Given the description of an element on the screen output the (x, y) to click on. 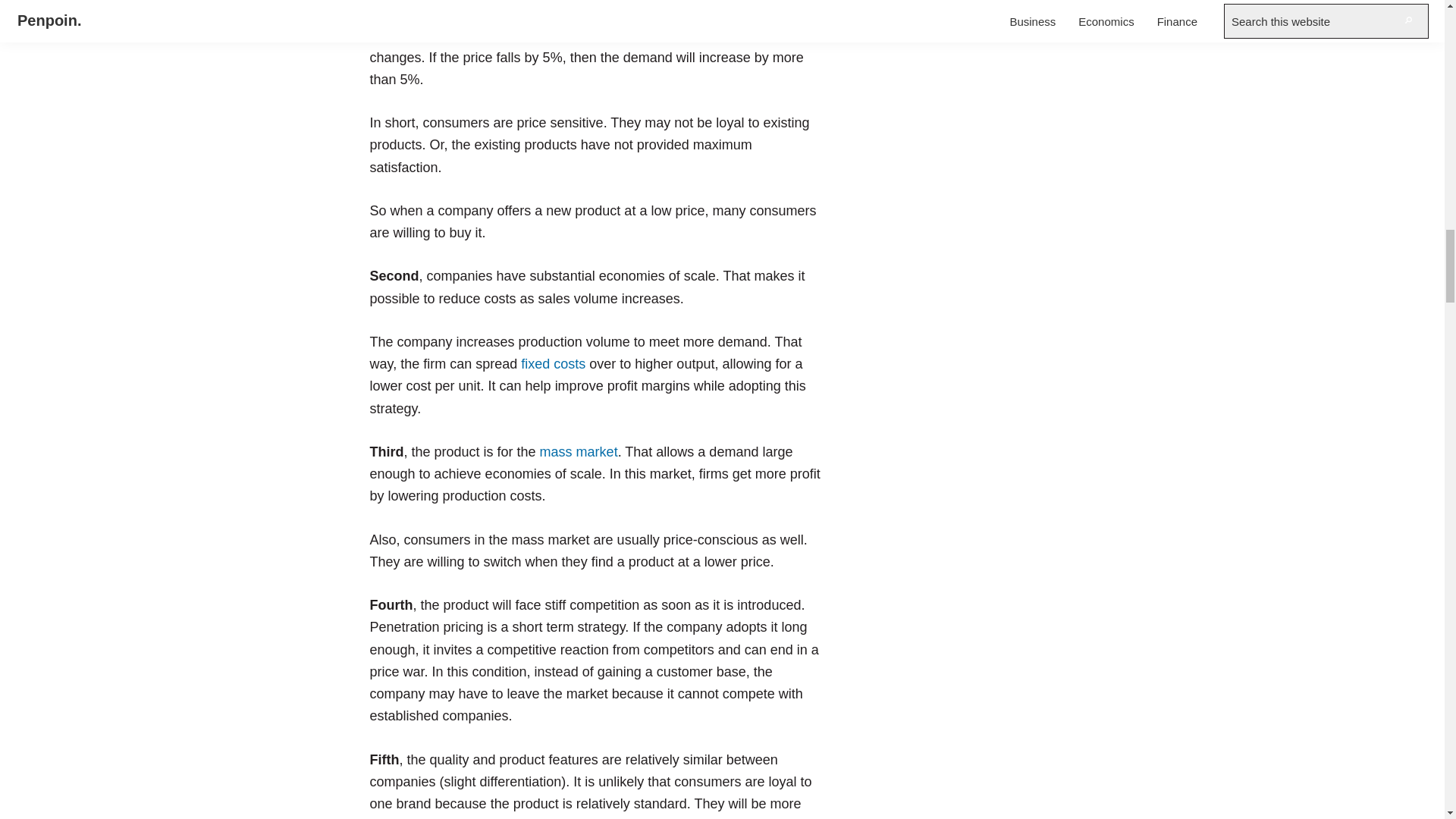
mass market (578, 451)
fixed costs (553, 363)
